Given the description of an element on the screen output the (x, y) to click on. 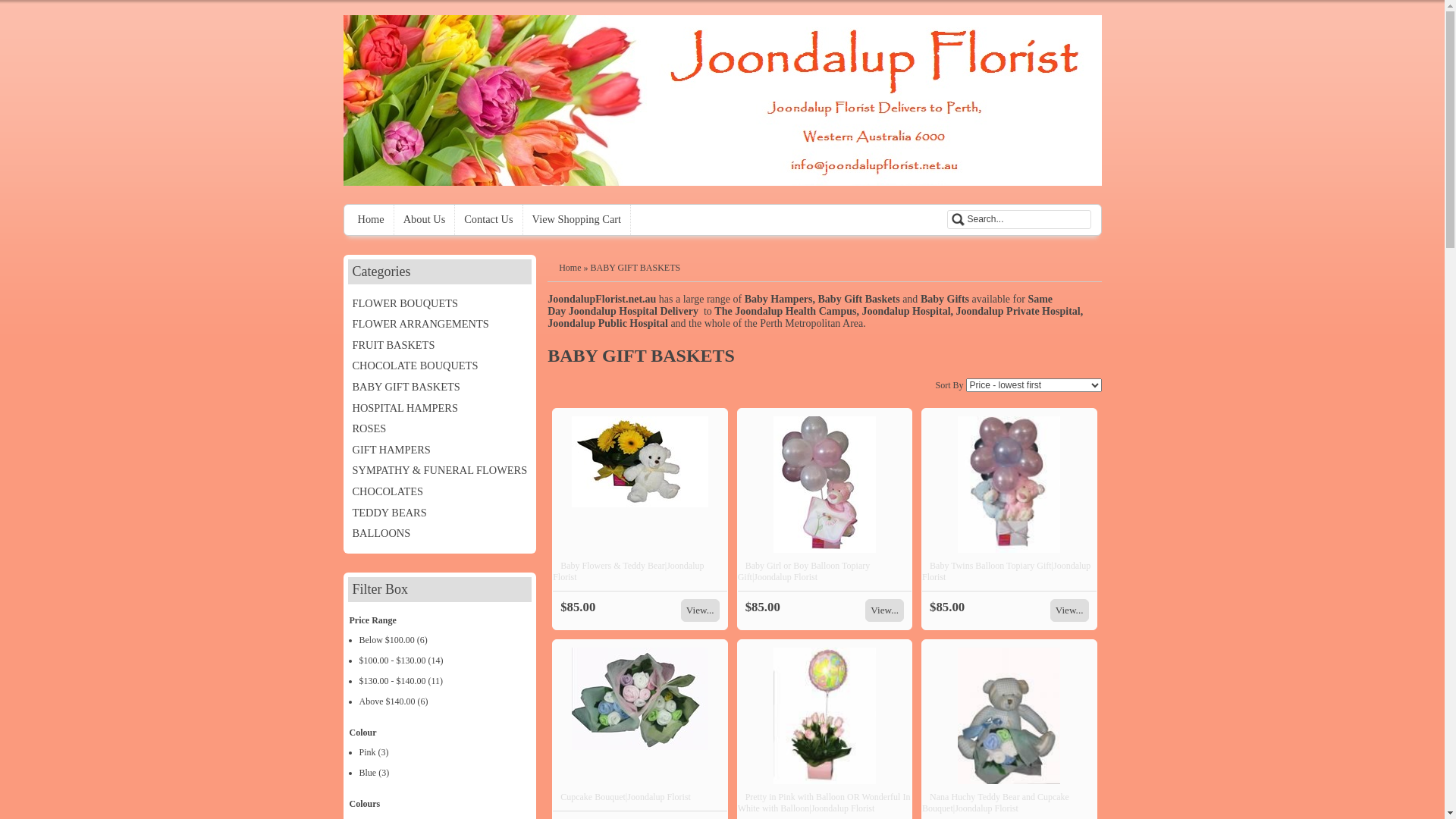
Baby Girl or Boy Balloon Topiary Gift|Joondalup Florist Element type: text (803, 571)
BABY GIFT BASKETS Element type: text (439, 387)
Pink (3) Element type: text (445, 752)
GIFT HAMPERS Element type: text (439, 450)
ROSES Element type: text (439, 428)
View... Element type: text (700, 609)
Baby Gift Baskets Element type: text (857, 298)
Home Element type: text (569, 267)
Baby Hampers Element type: text (776, 298)
CHOCOLATE BOUQUETS Element type: text (439, 365)
Contact Us Element type: text (488, 219)
TEDDY BEARS Element type: text (439, 513)
Blue (3) Element type: text (445, 772)
JoondalupFlorist.net.au Element type: text (601, 298)
Baby Flowers & Teddy Bear|Joondalup Florist Element type: text (627, 571)
FLOWER ARRANGEMENTS Element type: text (439, 324)
Joondalup Private Hospital Element type: text (1018, 310)
Nana Huchy Teddy Bear and Cupcake Bouquet|Joondalup Florist Element type: text (995, 802)
Above $140.00 (6) Element type: text (445, 701)
SYMPATHY & FUNERAL FLOWERS Element type: text (439, 470)
$130.00 - $140.00 (11) Element type: text (445, 681)
Same Day Joondalup Hospital Delivery  Element type: text (799, 304)
View Shopping Cart Element type: text (576, 219)
$100.00 - $130.00 (14) Element type: text (445, 660)
BALLOONS Element type: text (439, 533)
Joondalup Hospital Element type: text (905, 310)
FRUIT BASKETS Element type: text (439, 345)
HOSPITAL HAMPERS Element type: text (439, 408)
Below $100.00 (6) Element type: text (445, 640)
Cupcake Bouquet|Joondalup Florist Element type: text (625, 796)
The Joondalup Health Campus Element type: text (785, 310)
View... Element type: text (884, 609)
View... Element type: text (1069, 609)
Joondalup Public Hospital Element type: text (608, 323)
Home Element type: text (371, 219)
FLOWER BOUQUETS Element type: text (439, 303)
Baby Twins Balloon Topiary Gift|Joondalup Florist Element type: text (1006, 571)
Baby Gifts  Element type: text (946, 298)
CHOCOLATES Element type: text (439, 491)
About Us Element type: text (424, 219)
